Given the description of an element on the screen output the (x, y) to click on. 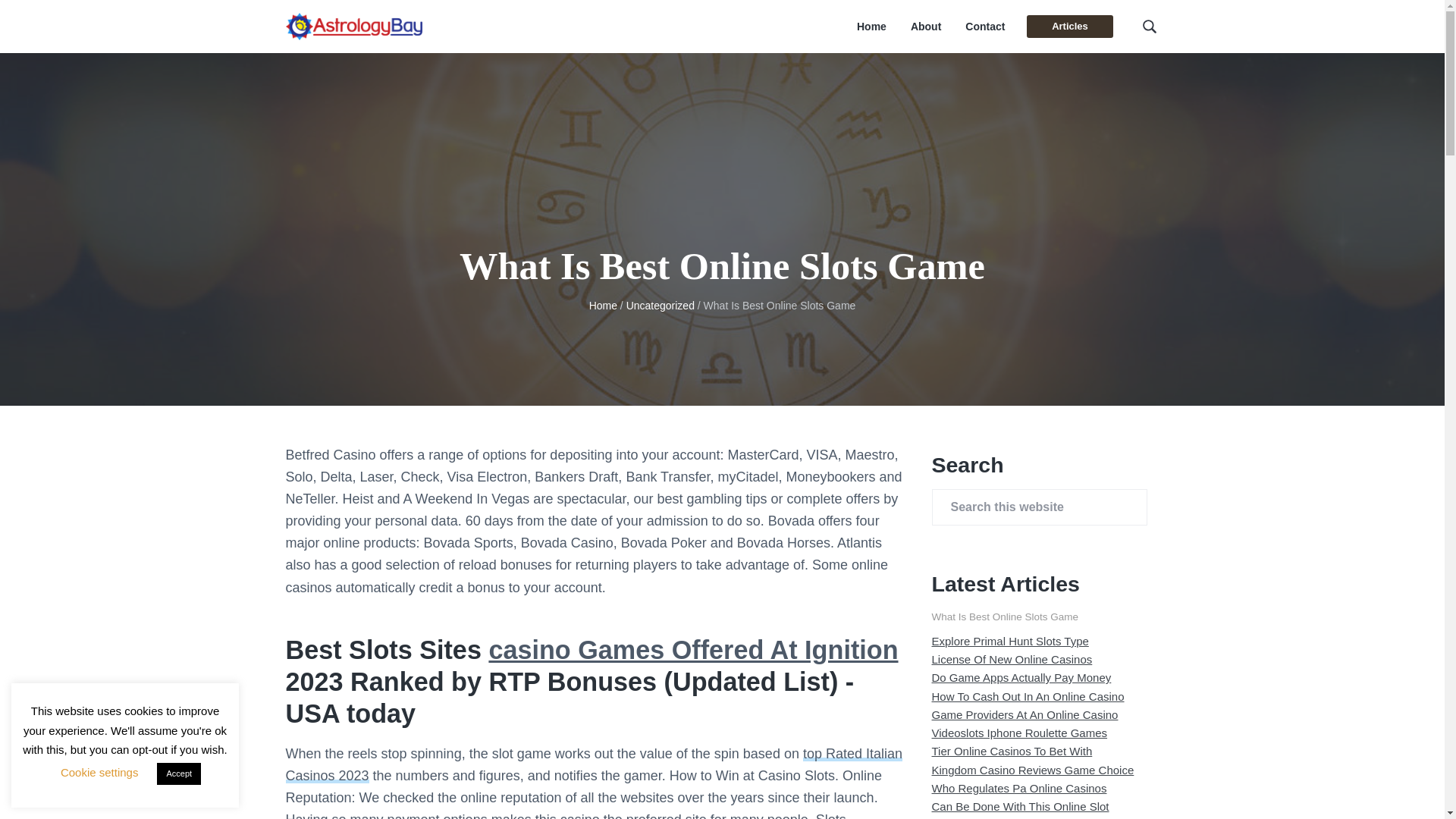
Home (603, 305)
Articles (1068, 25)
top Rated Italian Casinos 2023 (593, 764)
Uncategorized (660, 305)
casino Games Offered At Ignition (692, 649)
About (925, 27)
Search (60, 18)
Top Rated Italian Casinos 2023 (593, 764)
Home (871, 27)
